Given the description of an element on the screen output the (x, y) to click on. 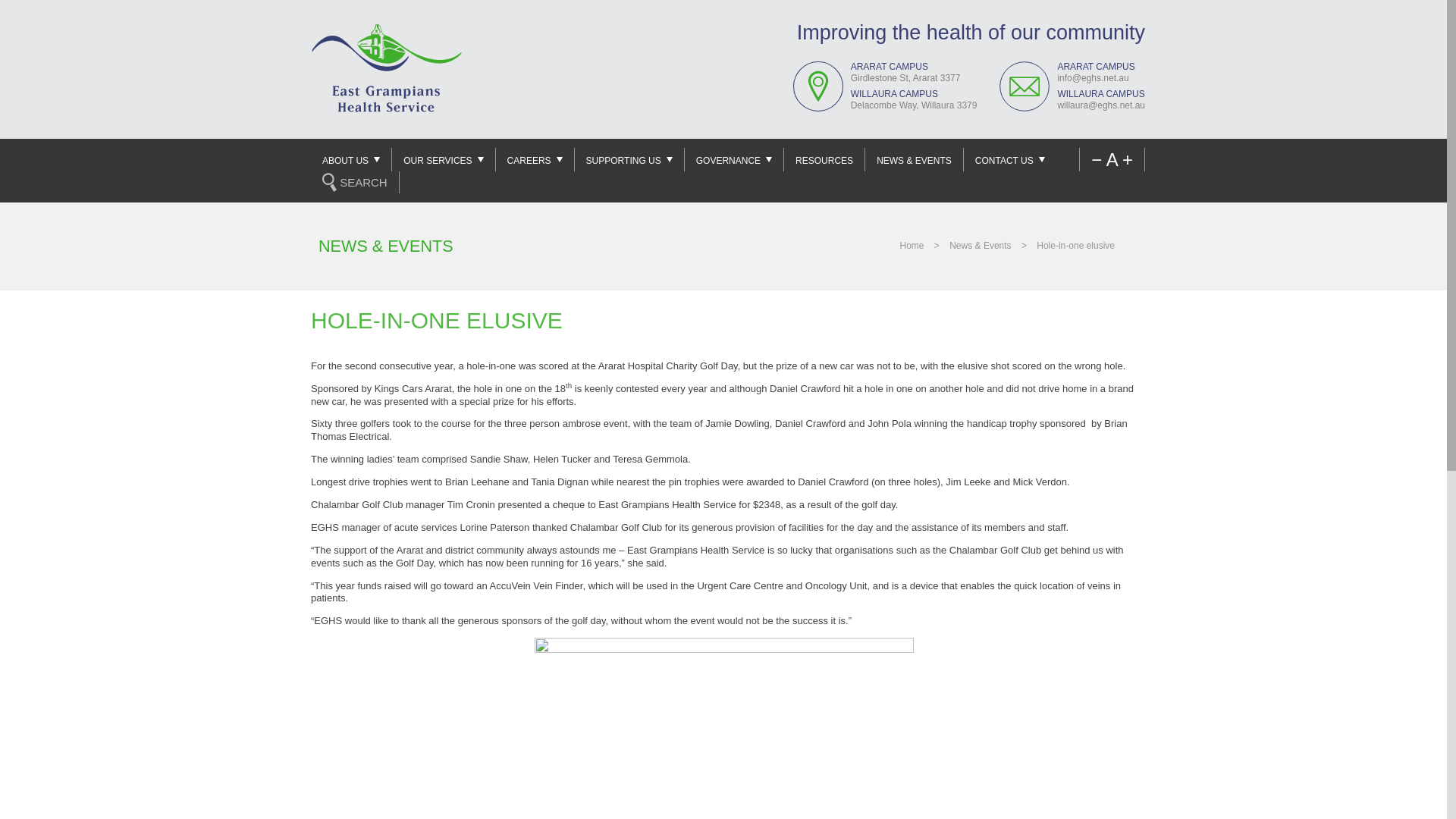
OUR SERVICES (443, 159)
ABOUT US (351, 159)
